Given the description of an element on the screen output the (x, y) to click on. 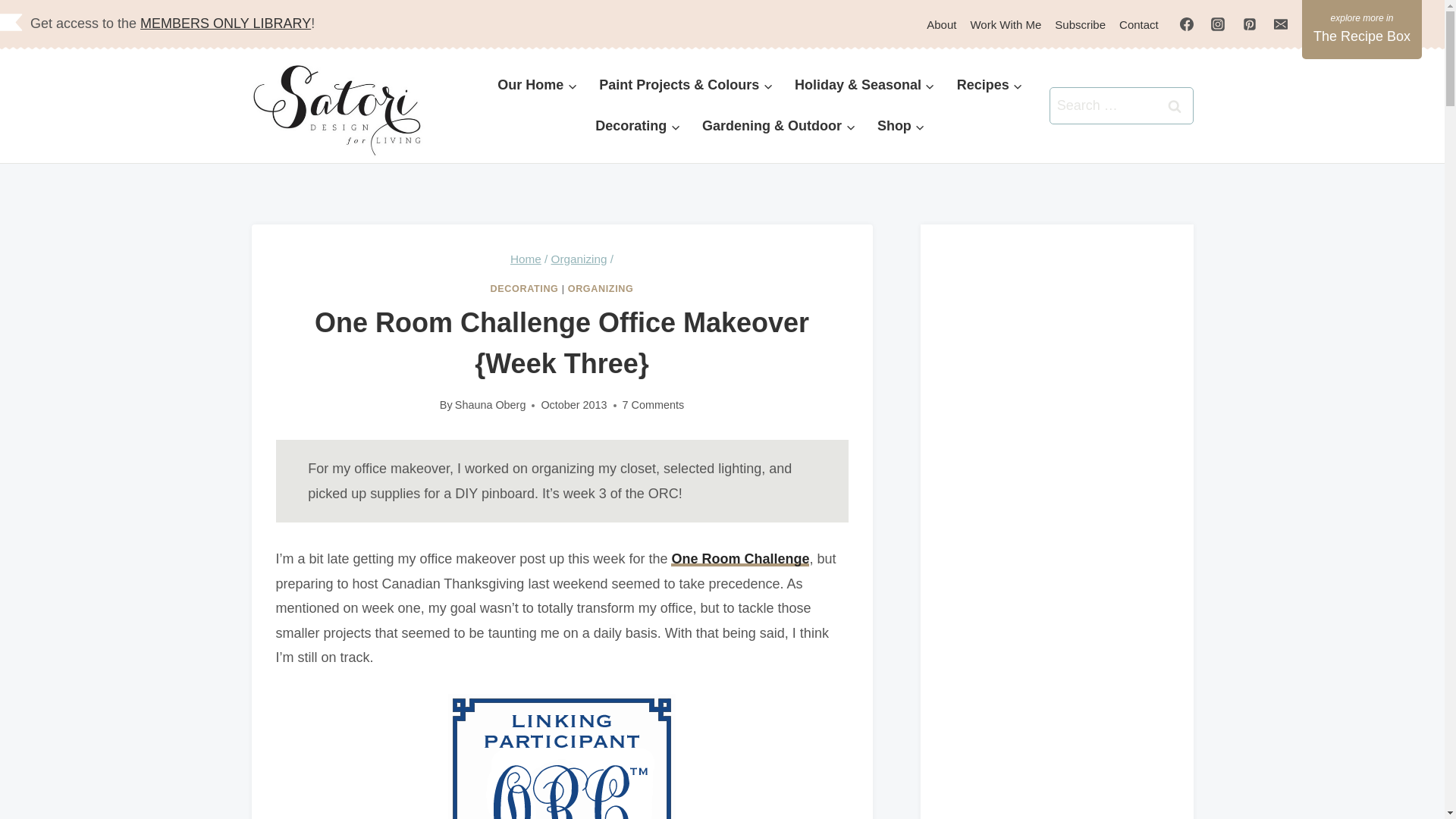
Contact (1139, 24)
DIY Projects and Ideas to Celebrate the Seasons (865, 85)
Recipes (988, 85)
MEMBERS ONLY LIBRARY (225, 23)
Search (1174, 105)
Join the Satori Design for Living Community! (1080, 24)
Our Home (537, 85)
Design and Decorating Projects Around Our House (537, 85)
Subscribe (1080, 24)
Search (1174, 105)
